Given the description of an element on the screen output the (x, y) to click on. 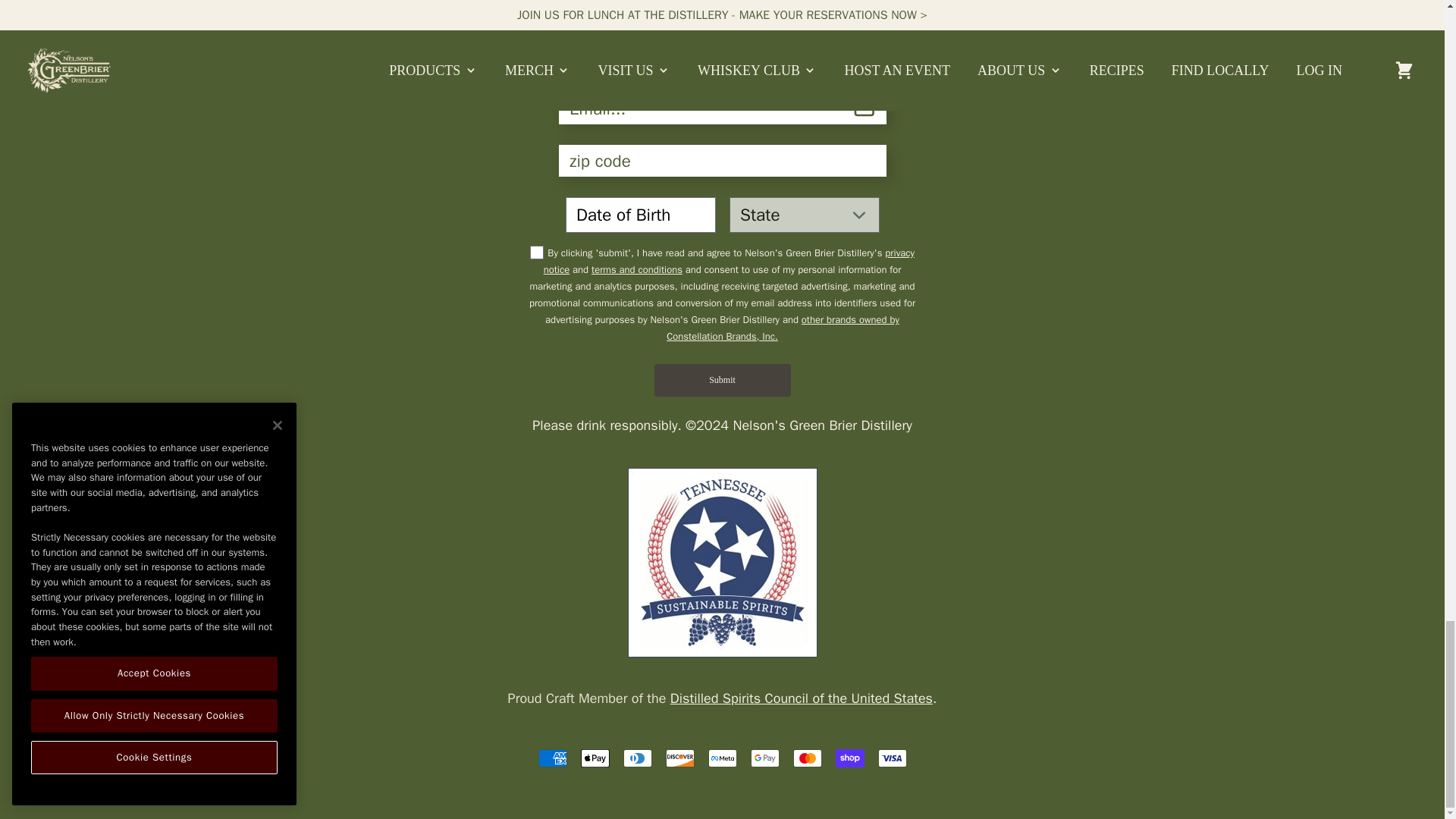
accepted (536, 252)
